Given the description of an element on the screen output the (x, y) to click on. 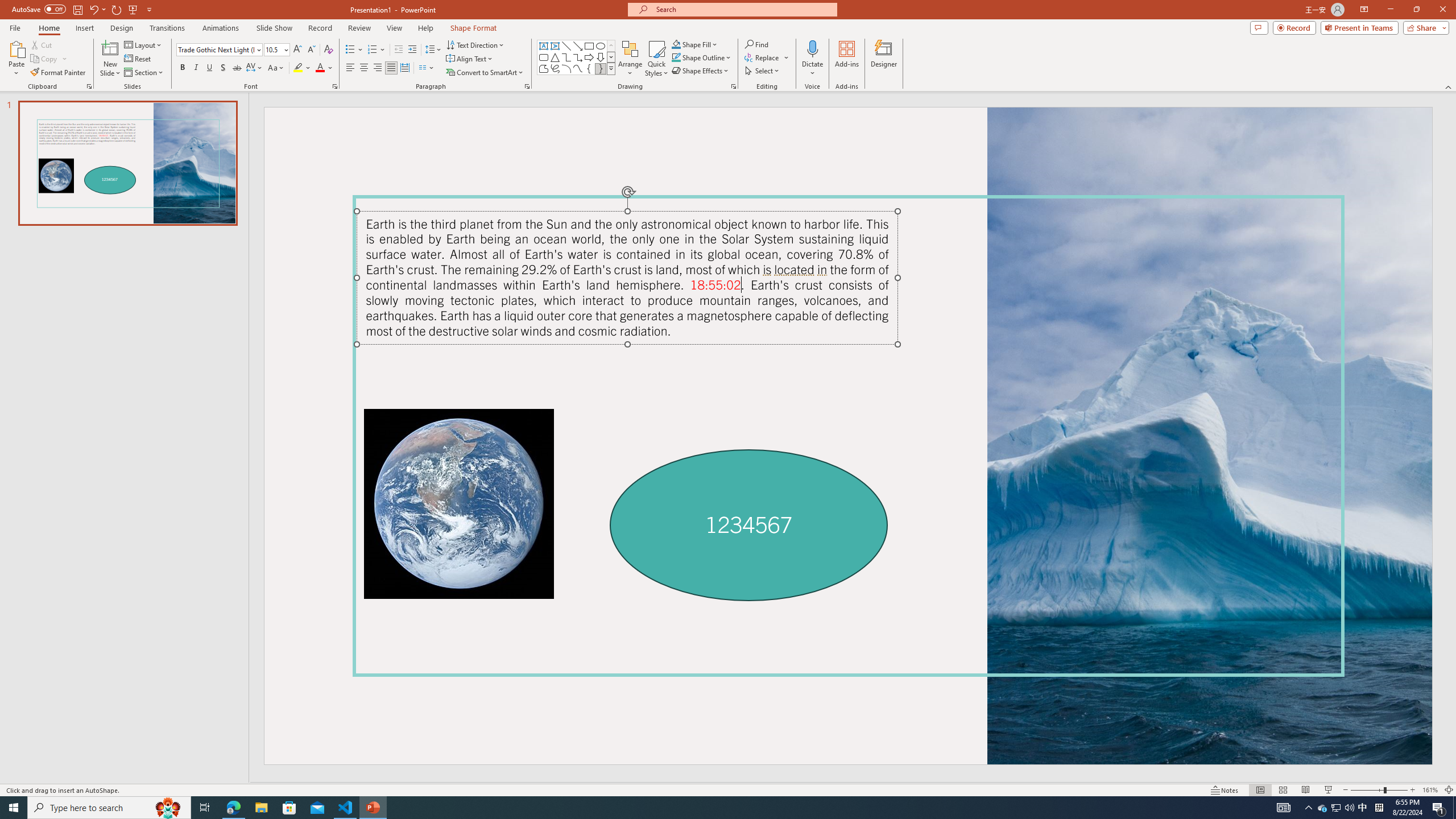
Arc (566, 68)
Arrow: Right (589, 57)
Format Object... (733, 85)
Align Left (349, 67)
Freeform: Shape (543, 68)
Font... (334, 85)
